Given the description of an element on the screen output the (x, y) to click on. 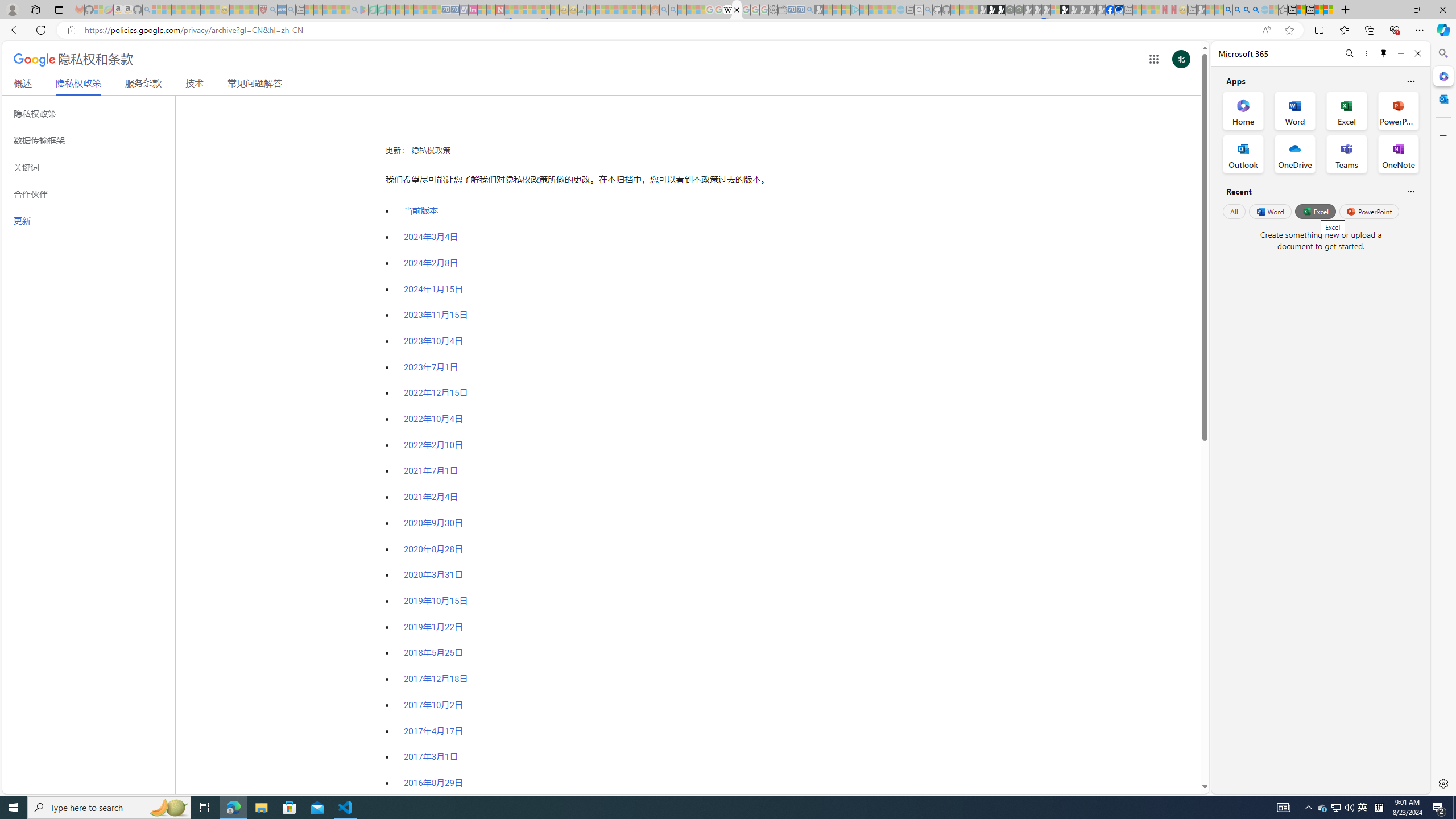
Excel (1315, 210)
MSNBC - MSN - Sleeping (590, 9)
